Given the description of an element on the screen output the (x, y) to click on. 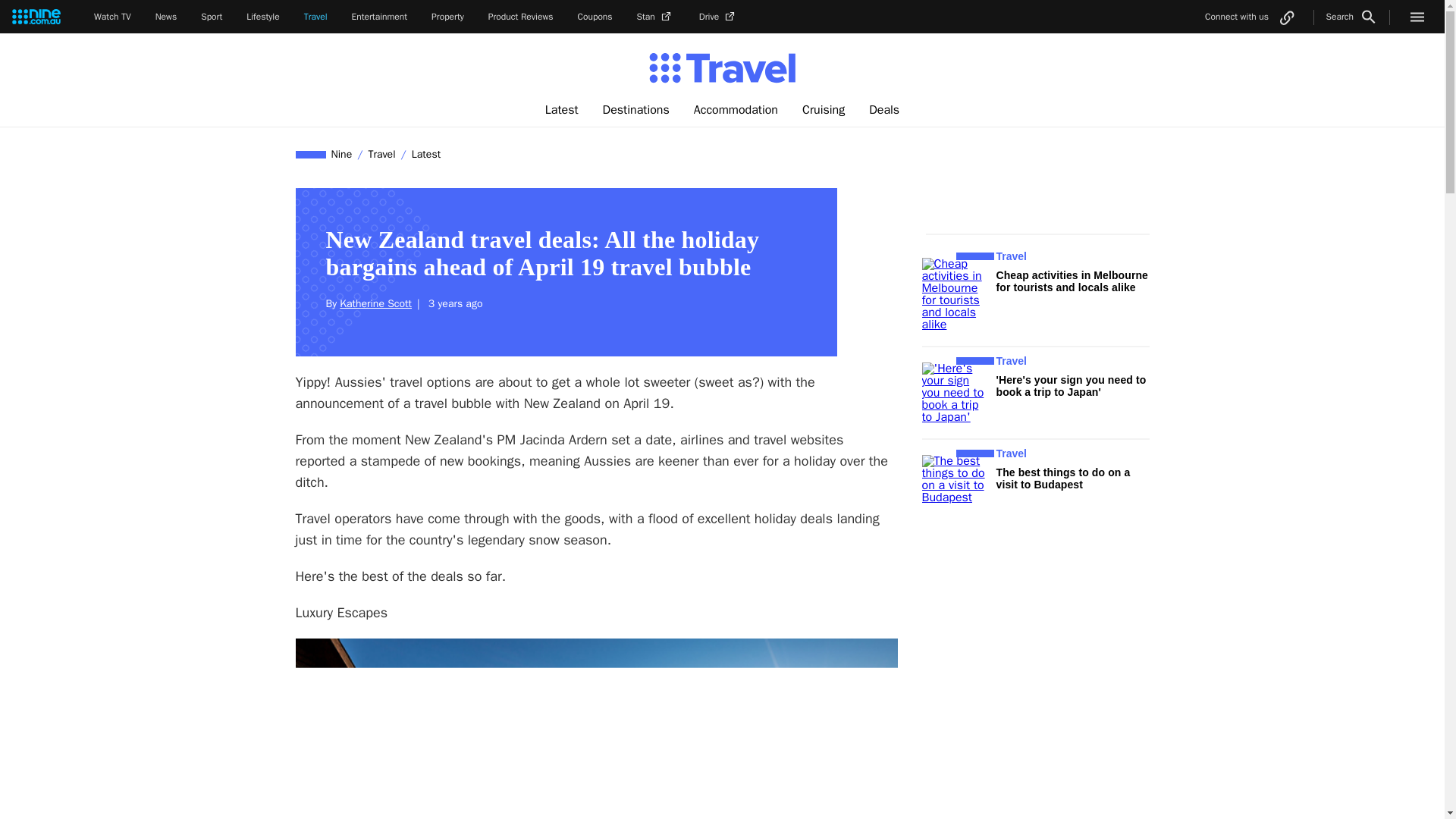
Latest (561, 109)
Destinations (636, 109)
Katherine Scott (375, 303)
Lifestyle (262, 16)
Drive (718, 16)
Cruising (823, 109)
Latest (425, 154)
Stan (656, 16)
Product Reviews (520, 16)
Coupons (595, 16)
Travel (381, 154)
Deals (884, 109)
Nine (342, 154)
2021-04-08 08:10 (453, 303)
Accommodation (735, 109)
